Given the description of an element on the screen output the (x, y) to click on. 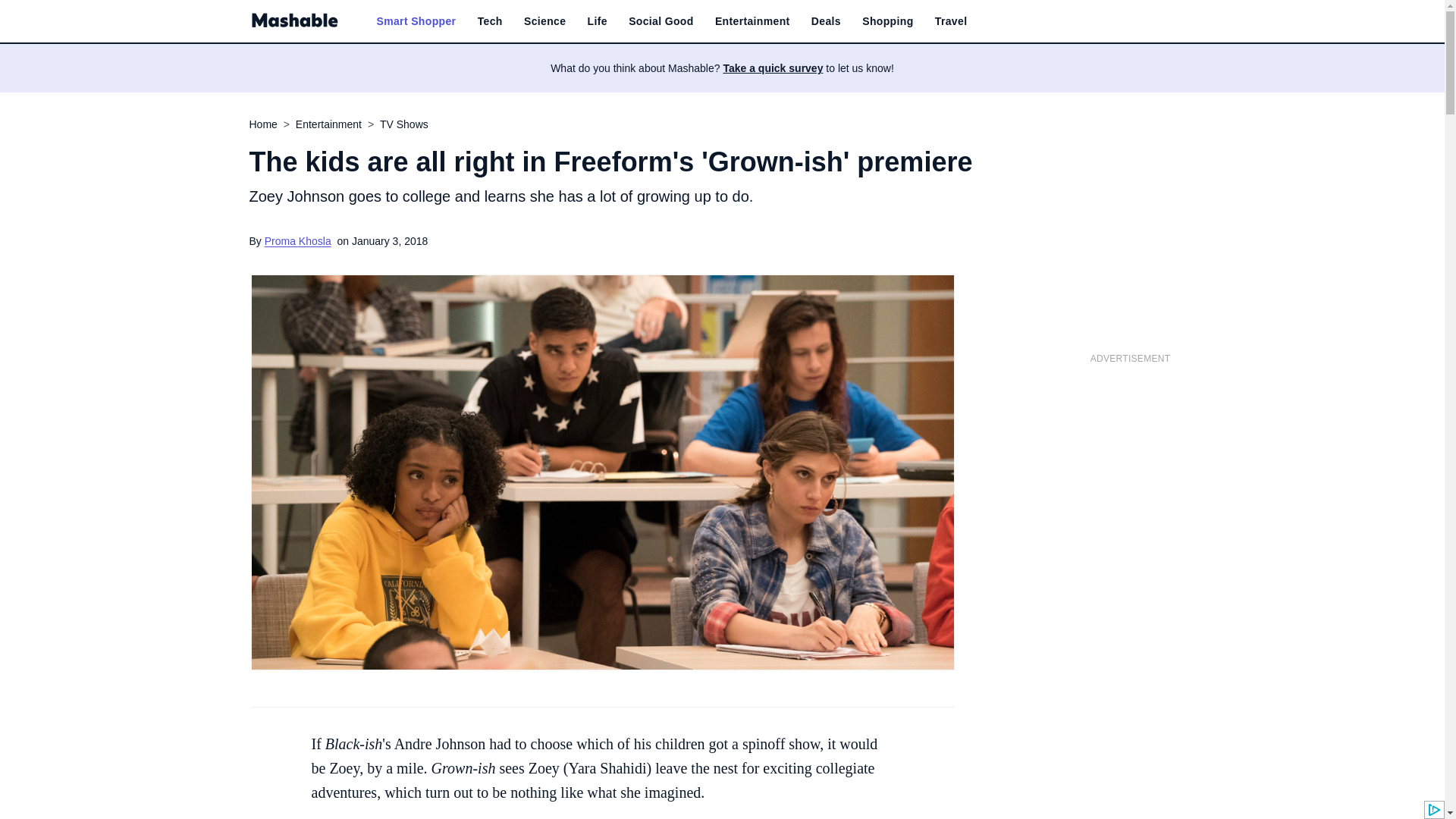
Life (597, 21)
Travel (951, 21)
Deals (825, 21)
Entertainment (752, 21)
Social Good (661, 21)
Smart Shopper (415, 21)
Tech (489, 21)
Science (545, 21)
Shopping (886, 21)
